Given the description of an element on the screen output the (x, y) to click on. 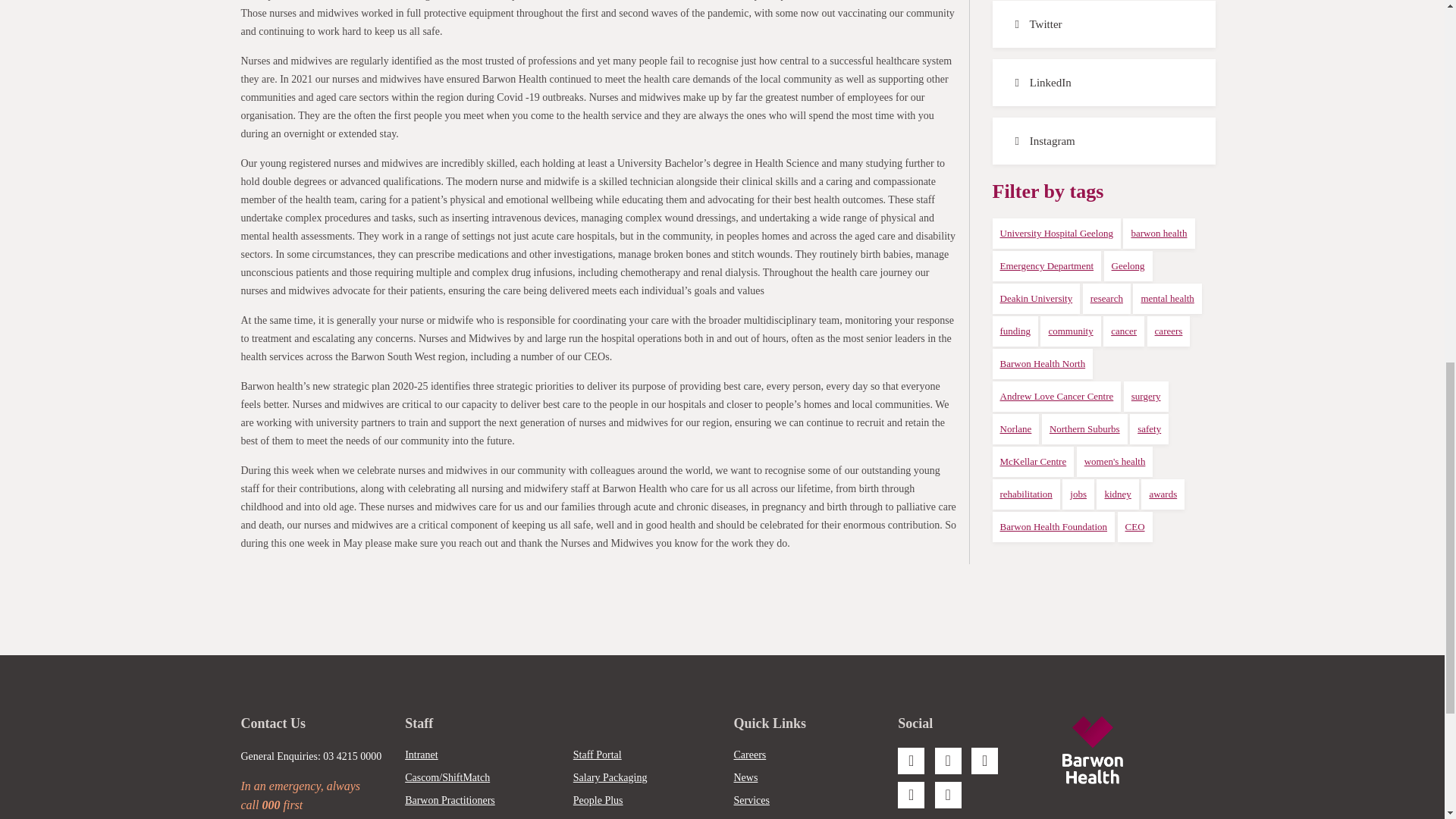
LinkedIn (1102, 82)
Instagram (1102, 140)
Twitter (1102, 23)
